Given the description of an element on the screen output the (x, y) to click on. 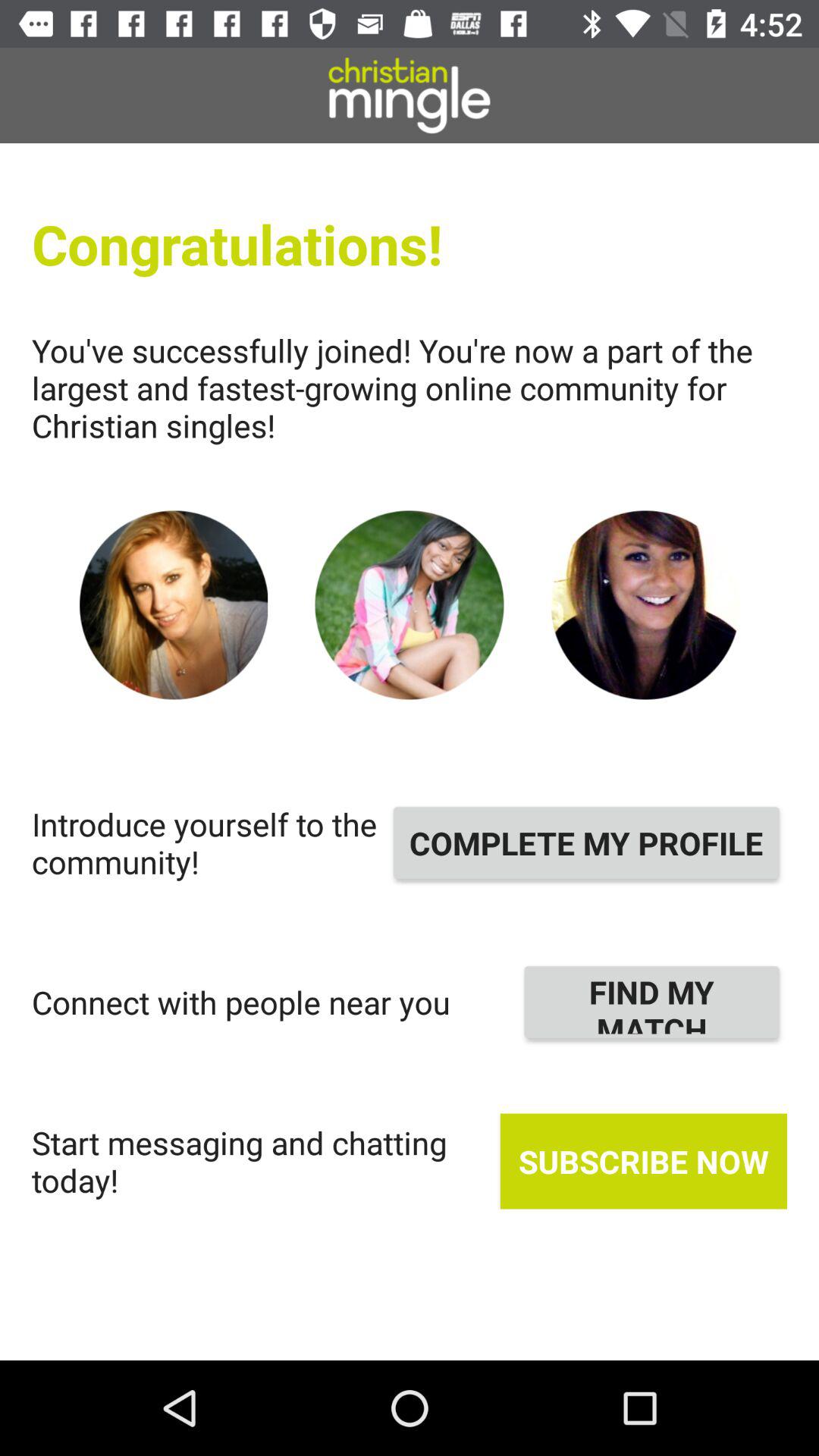
turn off find my match item (651, 1001)
